Given the description of an element on the screen output the (x, y) to click on. 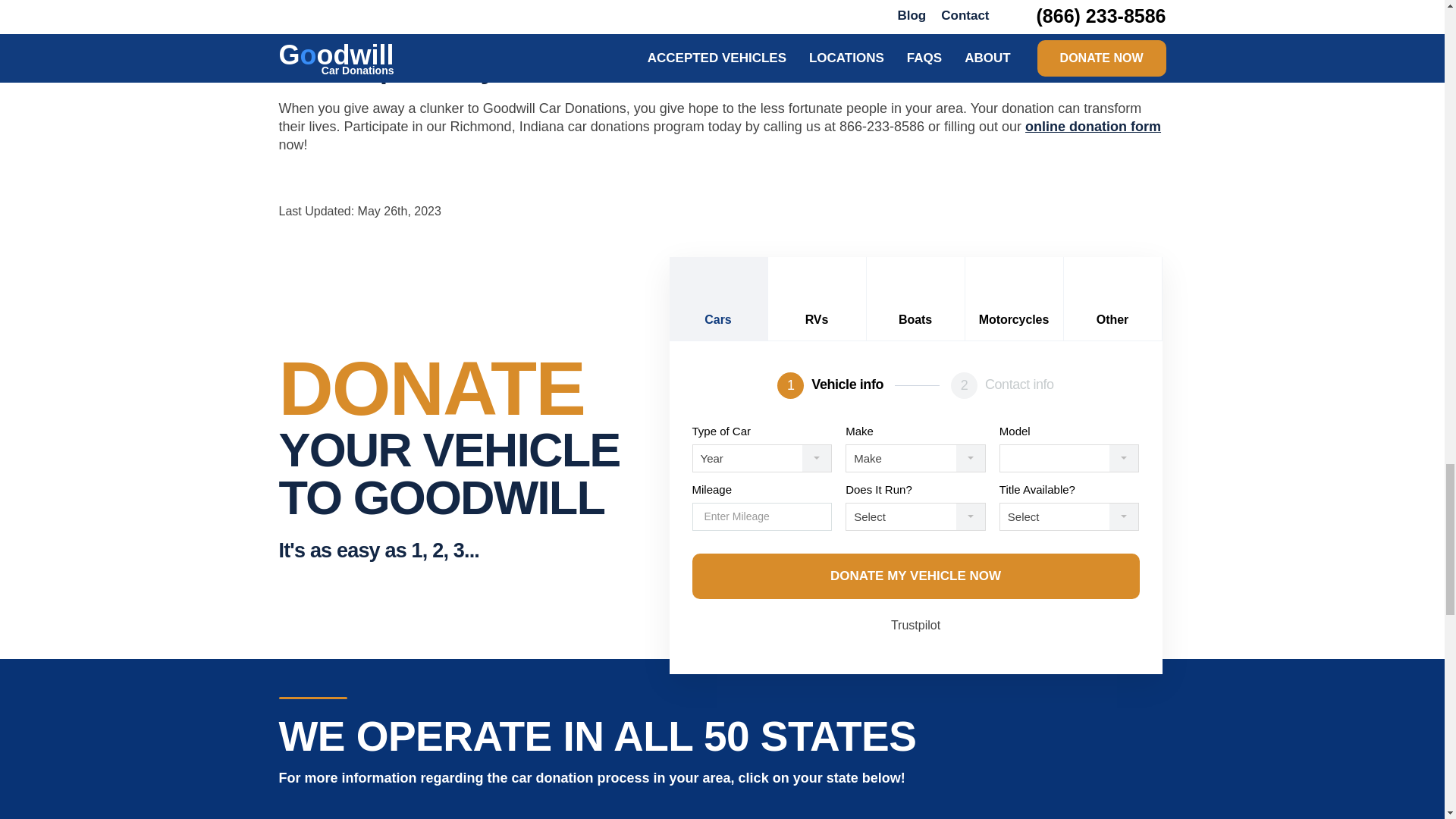
Unsplash License (509, 29)
DONATE MY VEHICLE NOW (914, 575)
Maxime Agnelli (376, 29)
online donation form (1092, 126)
Photo (296, 29)
Trustpilot (915, 625)
